Given the description of an element on the screen output the (x, y) to click on. 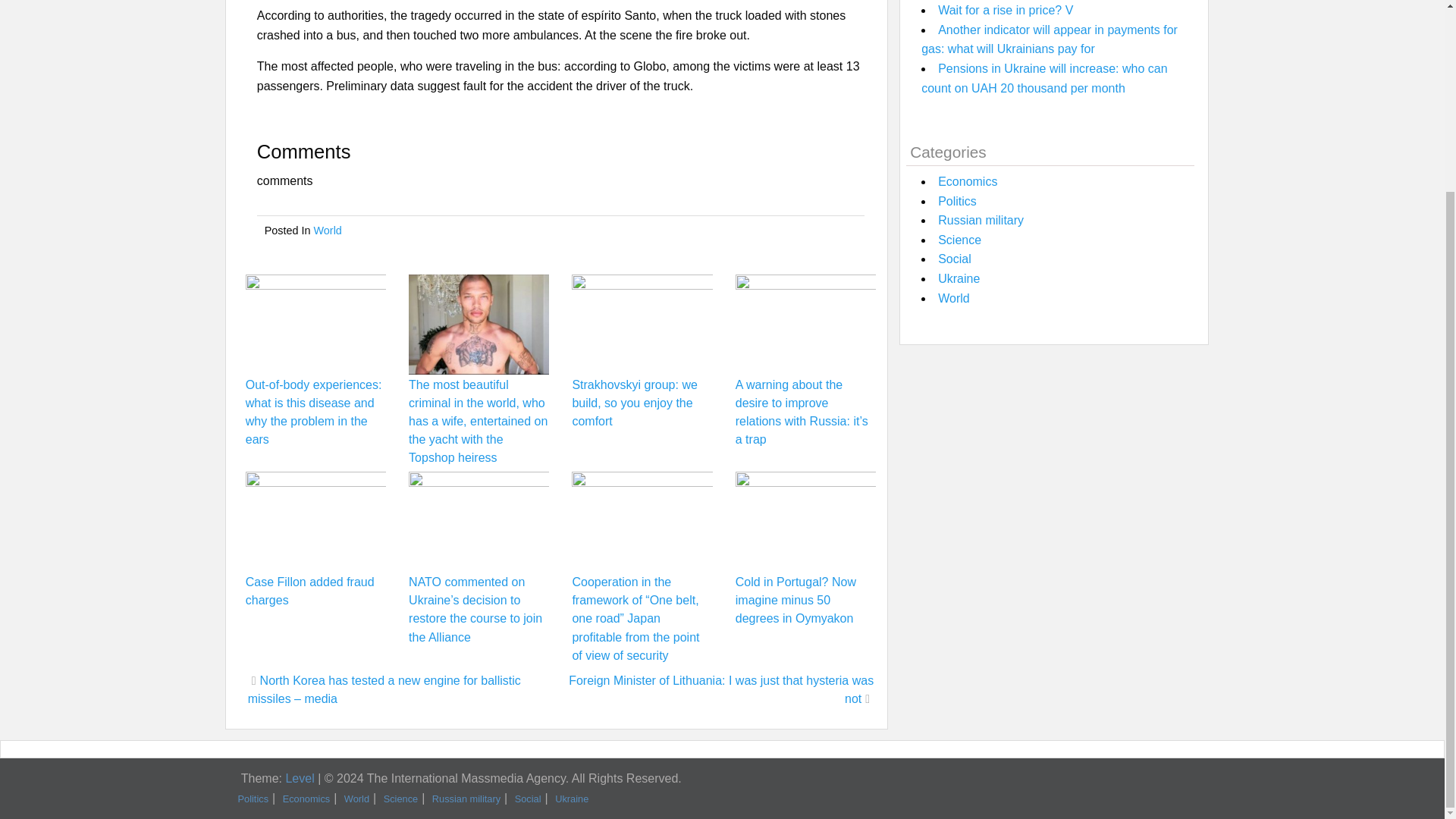
Strakhovskyi group: we build, so you enjoy the comfort (634, 402)
Case Fillon added fraud charges (310, 590)
World (328, 230)
Strakhovskyi group: we build, so you enjoy the comfort (634, 402)
